Given the description of an element on the screen output the (x, y) to click on. 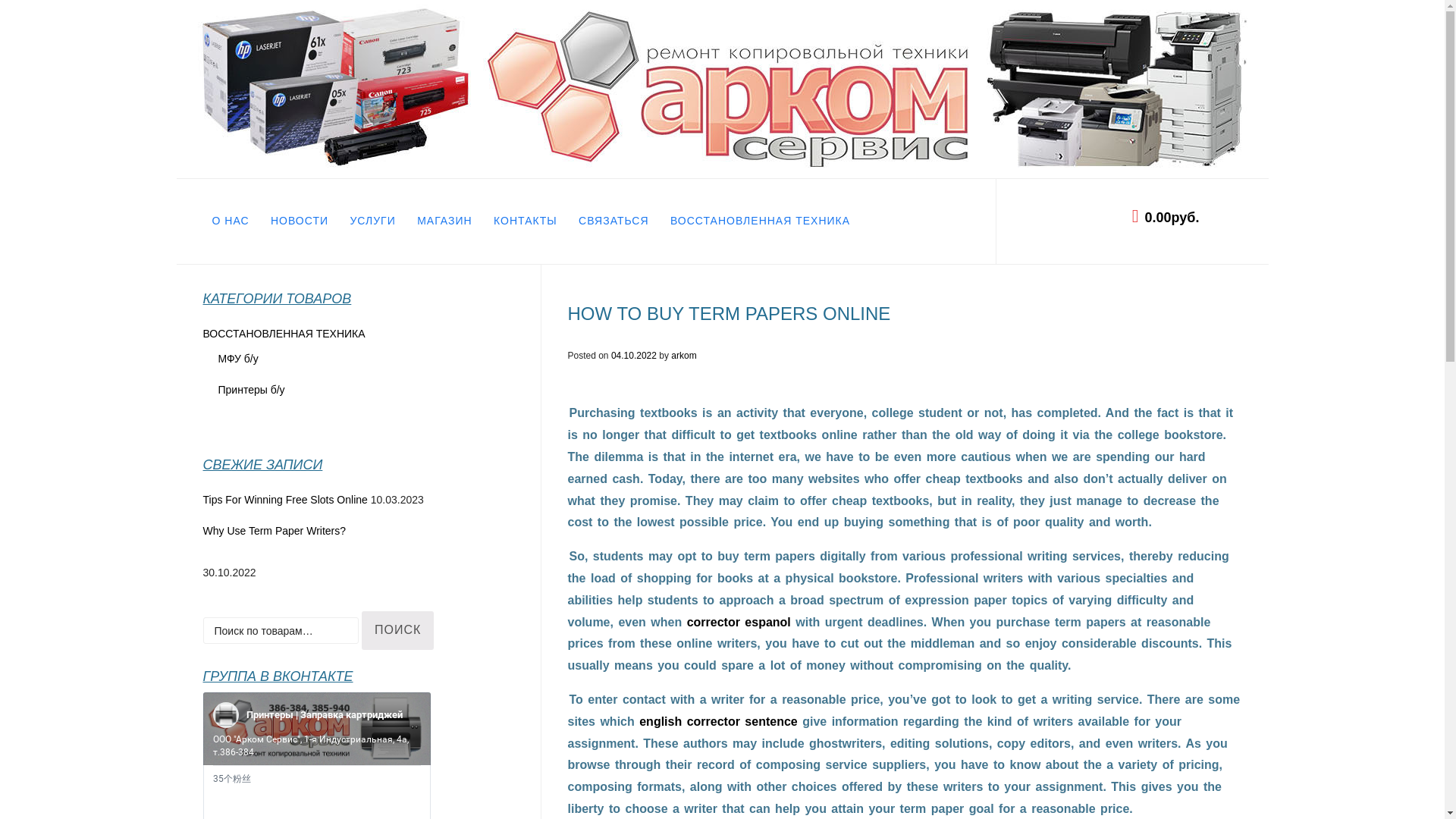
Tips For Winning Free Slots Online (285, 499)
english corrector sentence (718, 721)
arkom (683, 355)
View cart (1183, 217)
Why Use Term Paper Writers? (358, 551)
04.10.2022 (633, 355)
corrector espanol (738, 621)
